Given the description of an element on the screen output the (x, y) to click on. 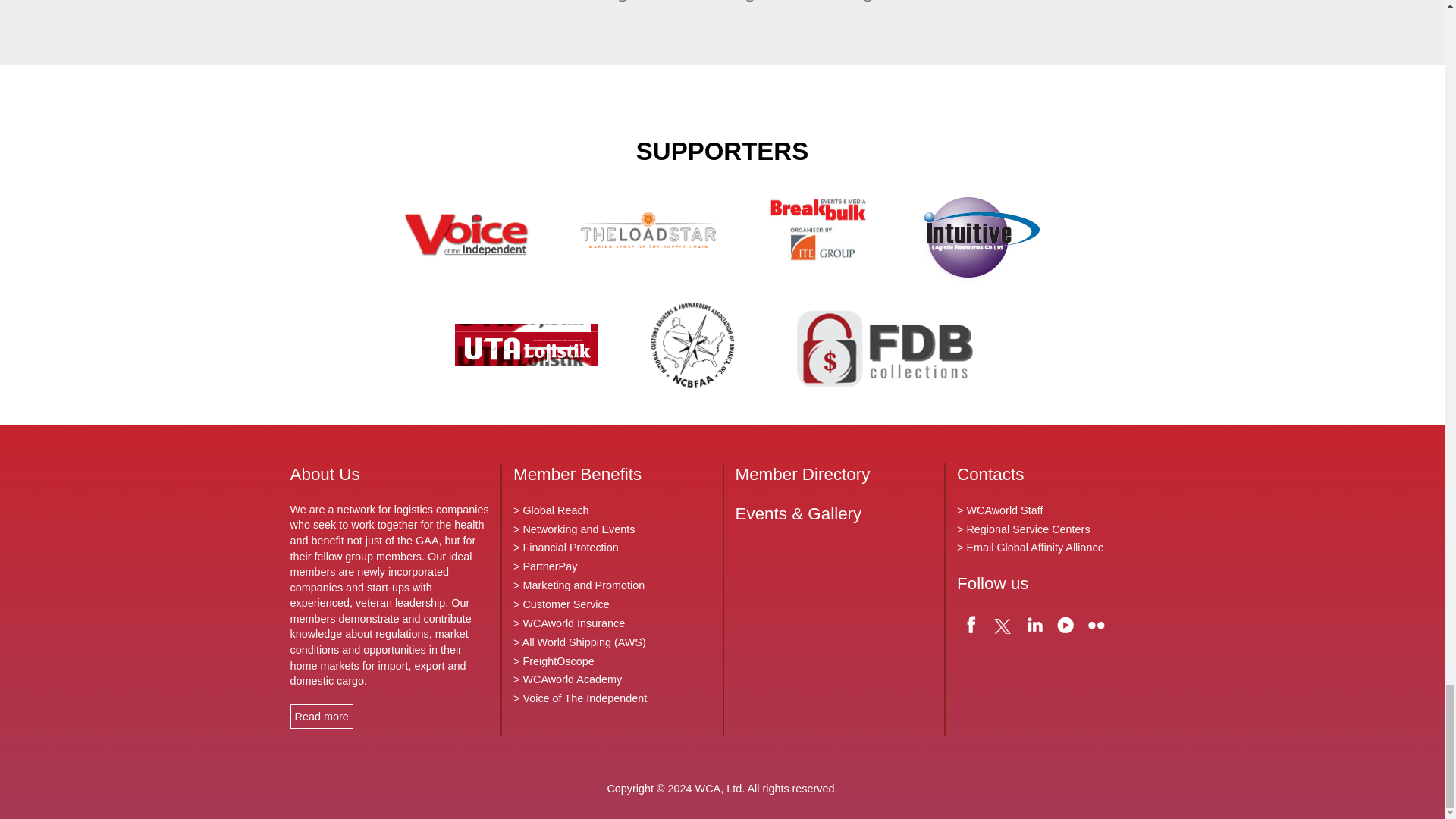
www.intuitivelogisticresources.com (978, 234)
theloadstar.co.uk (649, 234)
www.lojistikhatti.com (526, 349)
www.voiceoftheindependent.com (466, 234)
www.ncbfaa.org (692, 349)
fdbcollections.com (887, 349)
www.breakbulk.com (817, 234)
